Given the description of an element on the screen output the (x, y) to click on. 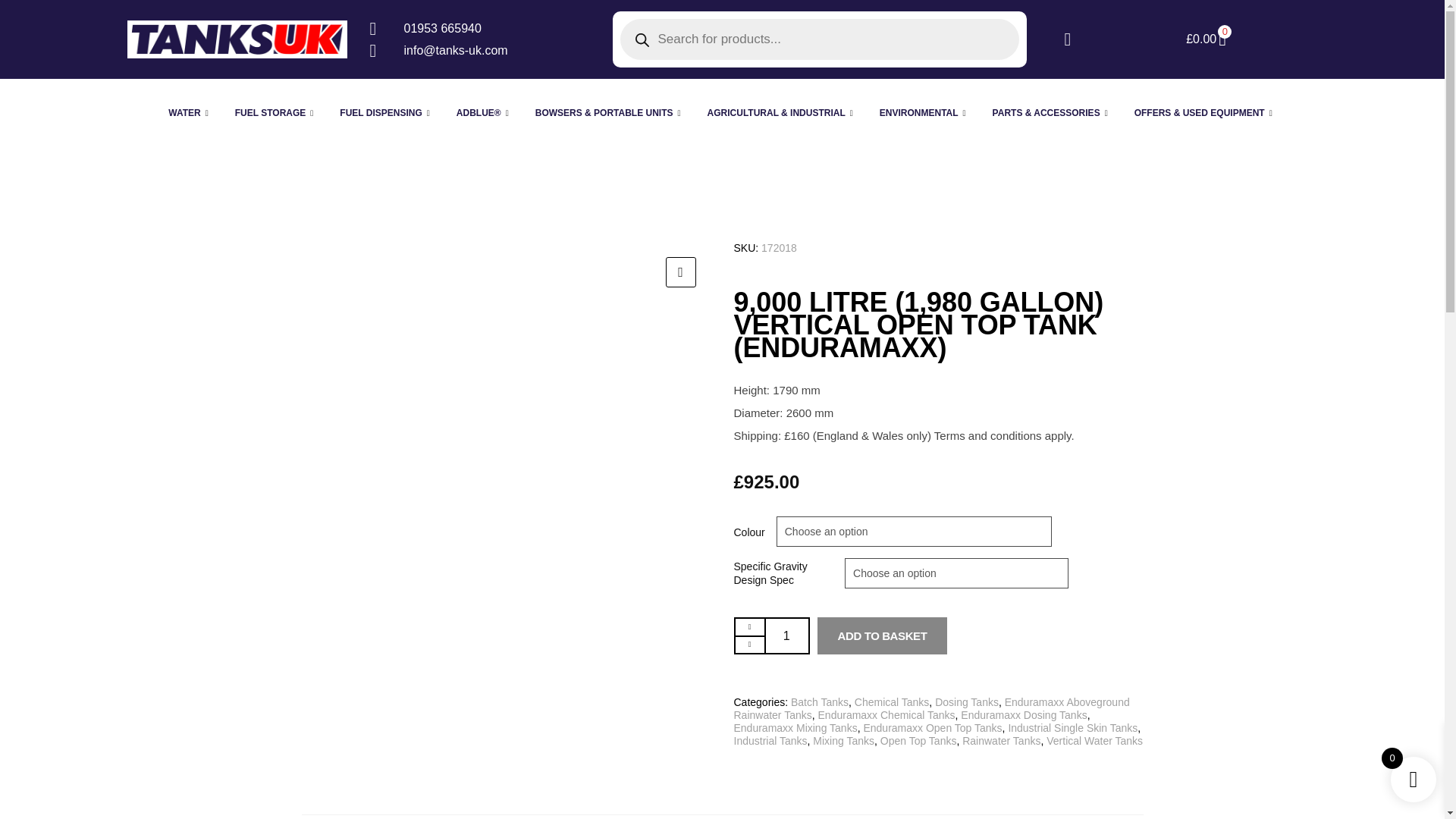
WATER (189, 112)
Product Thumbnail (680, 272)
FUEL DISPENSING (387, 112)
1 (787, 635)
01953 665940 (479, 28)
FUEL STORAGE (276, 112)
